Given the description of an element on the screen output the (x, y) to click on. 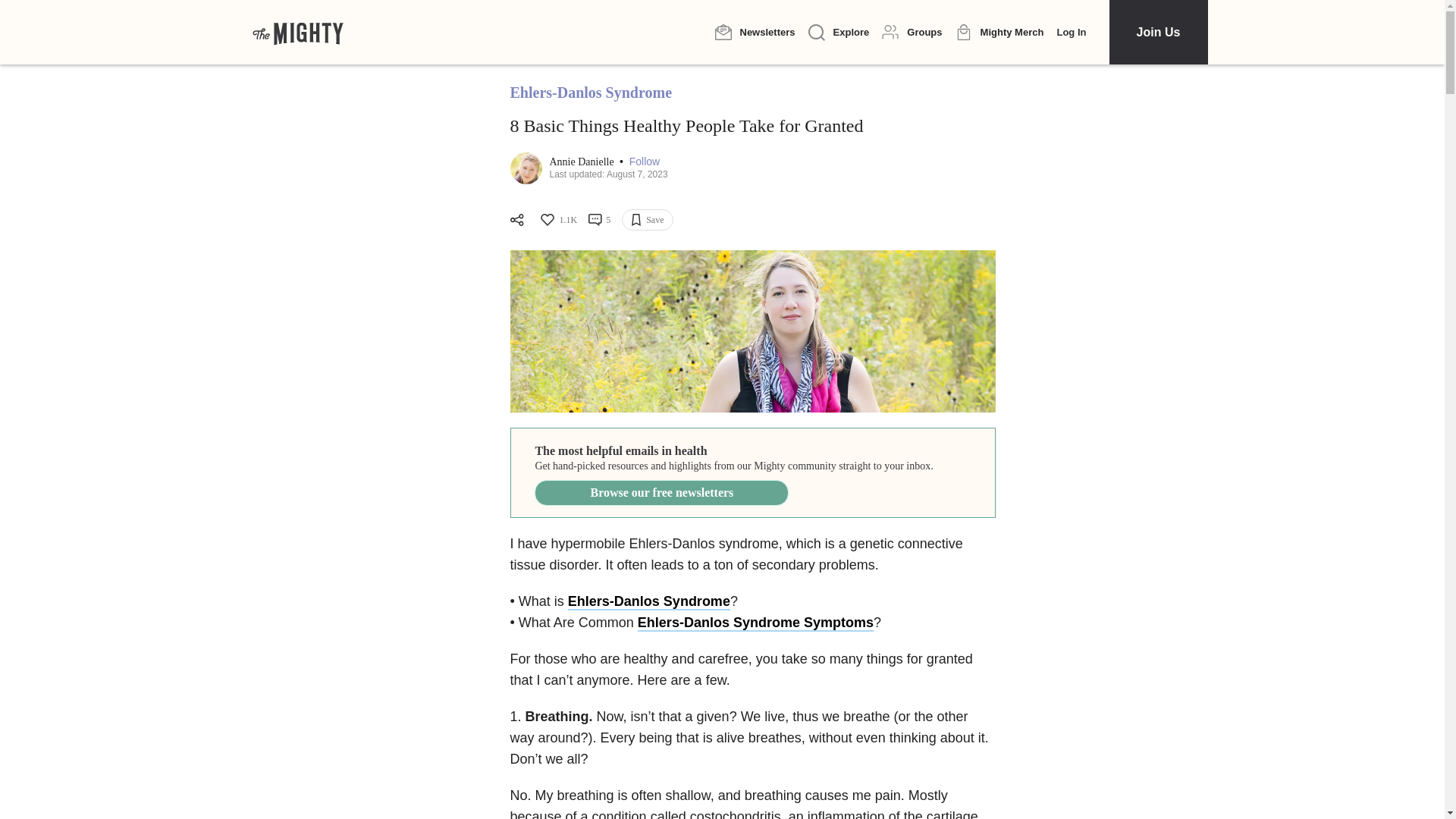
Mighty Merch (999, 32)
5 (599, 219)
Follow (643, 161)
1.1K (557, 219)
Groups (912, 32)
The Mighty (296, 32)
Explore (838, 32)
Ehlers-Danlos Syndrome (648, 601)
Ehlers-Danlos Syndrome (590, 92)
Newsletters (754, 31)
Save (646, 219)
Ehlers-Danlos Syndrome Symptoms (755, 623)
Annie Danielle (581, 161)
8 Basic Things Healthy People Take for Granted (751, 331)
Join Us (1157, 32)
